Given the description of an element on the screen output the (x, y) to click on. 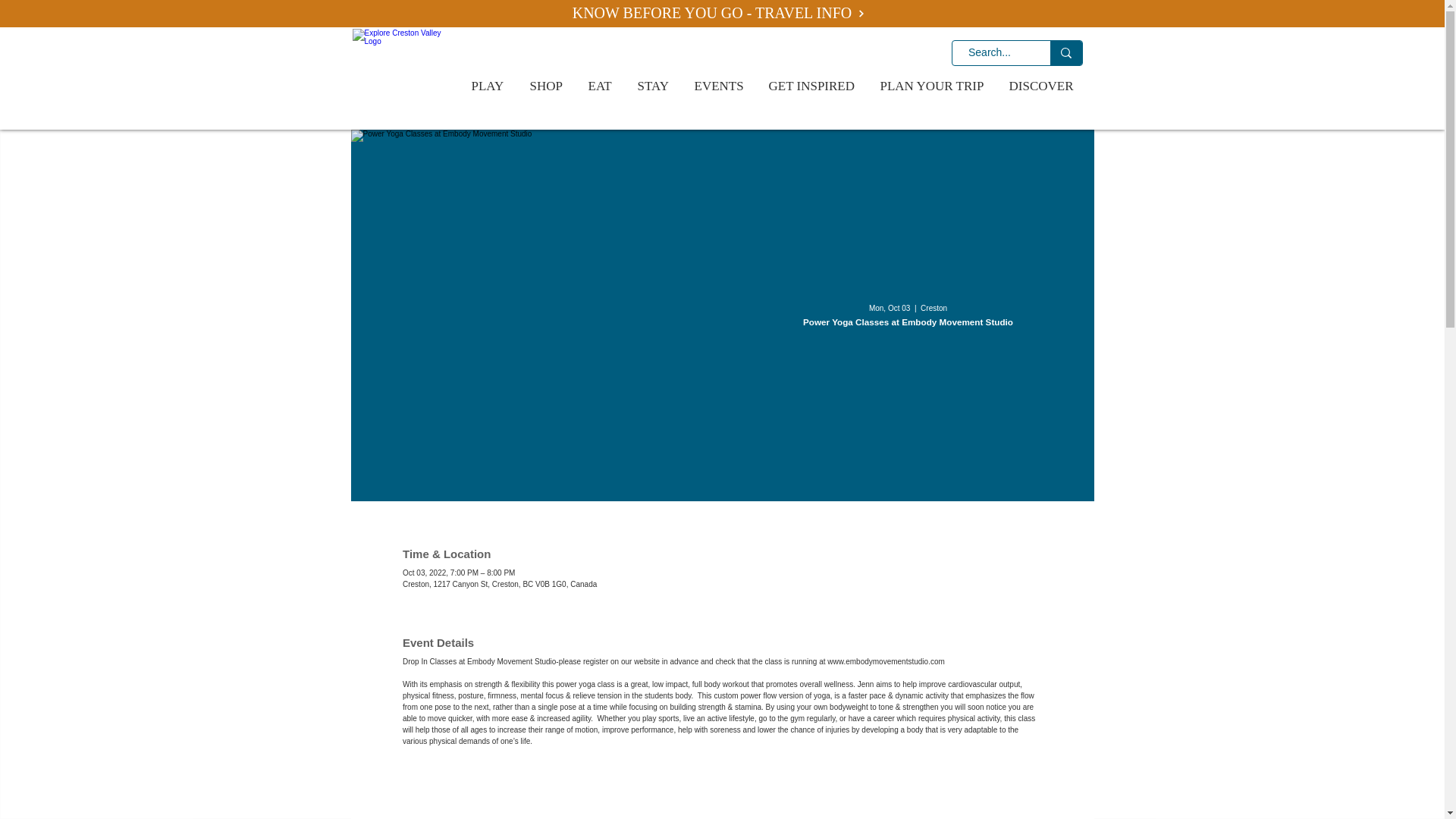
PLAY (489, 86)
EVENTS (719, 86)
KNOW BEFORE YOU GO - TRAVEL INFO (718, 13)
SHOP (547, 86)
PLAN YOUR TRIP (933, 86)
GET INSPIRED (812, 86)
STAY (654, 86)
EAT (601, 86)
DISCOVER (1042, 86)
